Given the description of an element on the screen output the (x, y) to click on. 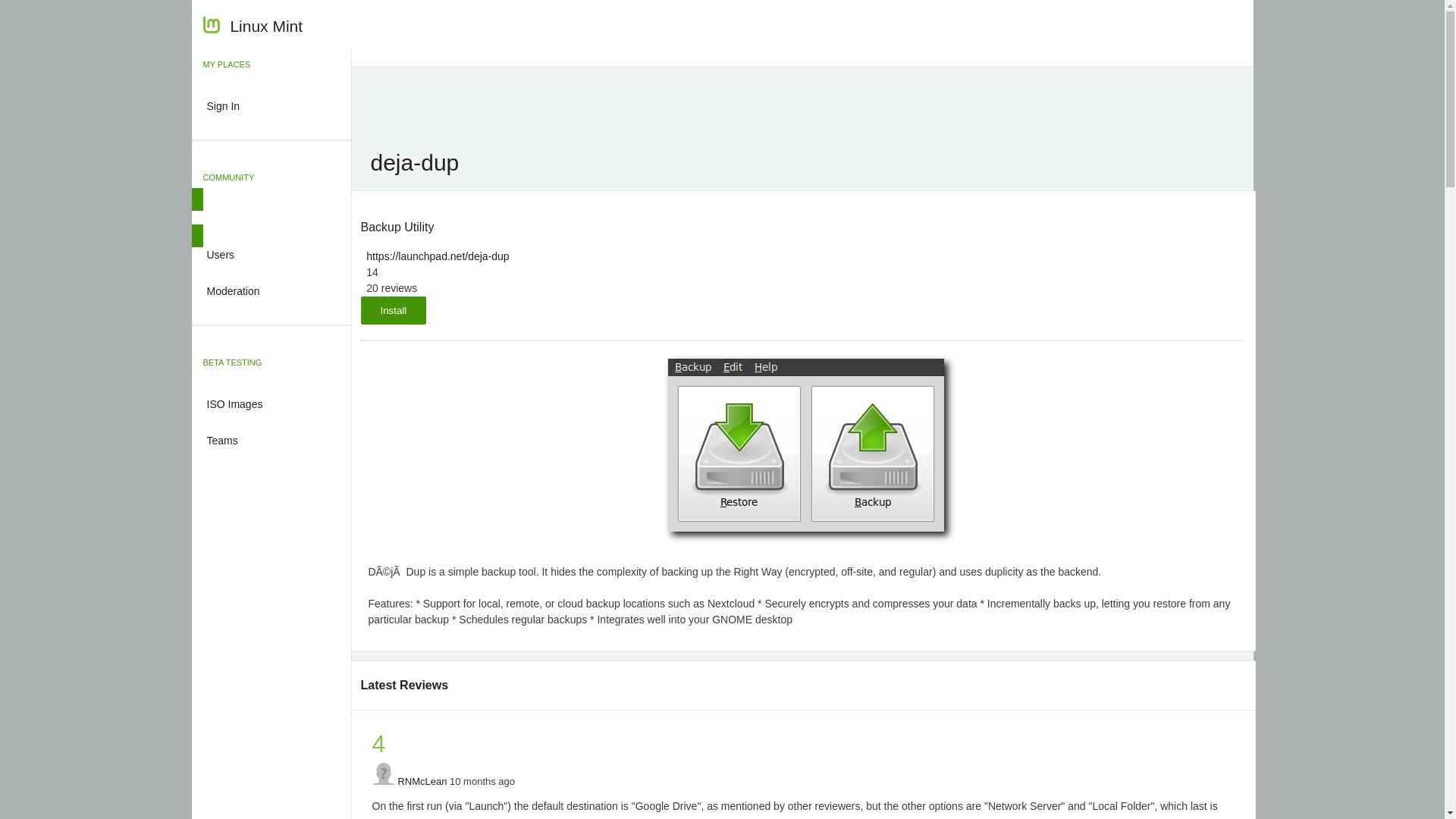
Software (270, 217)
Moderation (270, 290)
Install (393, 309)
Linux Mint (252, 28)
ISO Images (270, 402)
Sign In (270, 105)
RNMcLean (421, 781)
Teams (270, 438)
Users (270, 253)
Install (393, 310)
